Given the description of an element on the screen output the (x, y) to click on. 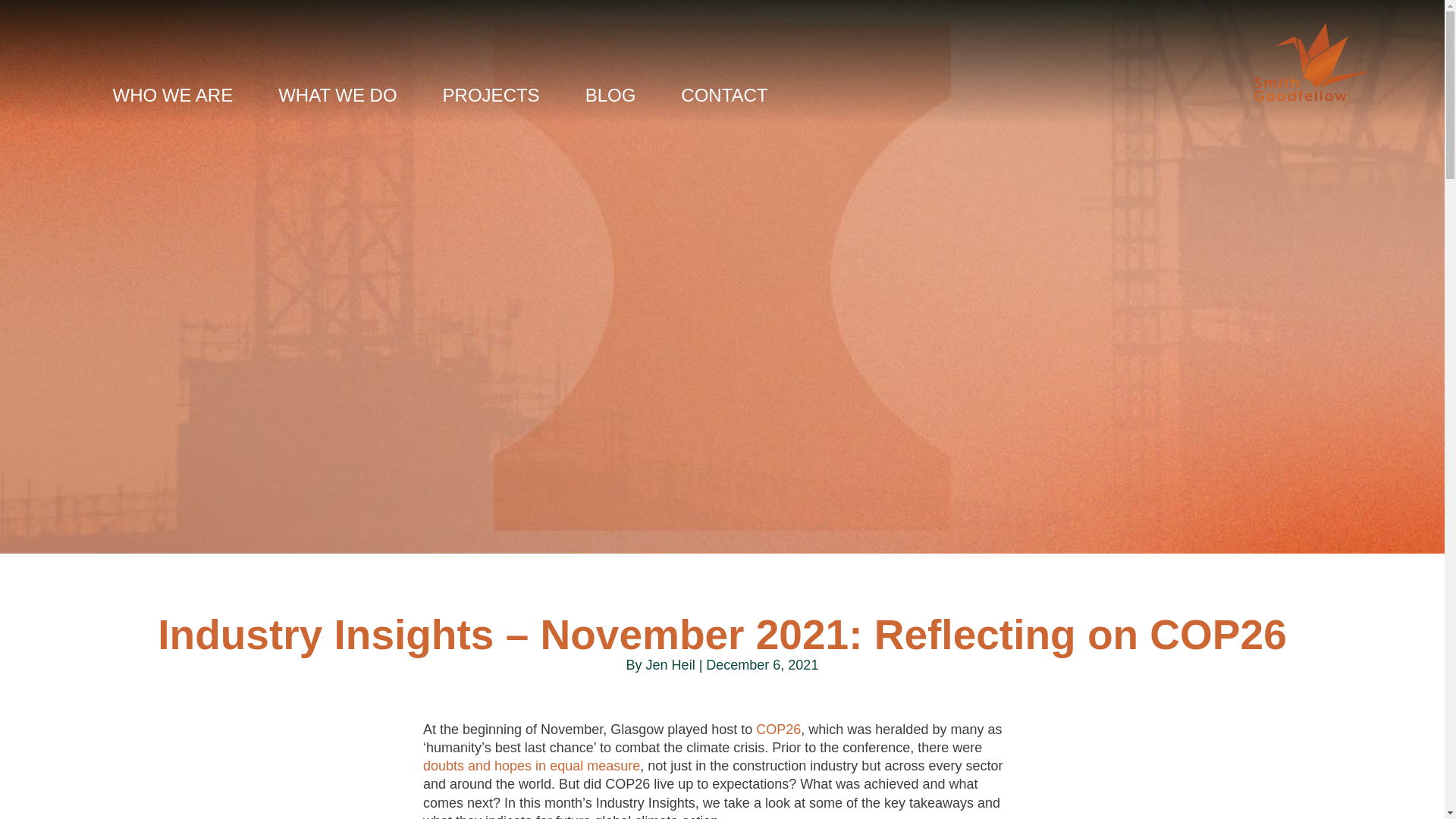
doubts and hopes in equal measure (531, 765)
COP26 (777, 729)
CONTACT (724, 97)
BLOG (610, 97)
WHAT WE DO (337, 97)
WHO WE ARE (172, 97)
PROJECTS (491, 97)
